Given the description of an element on the screen output the (x, y) to click on. 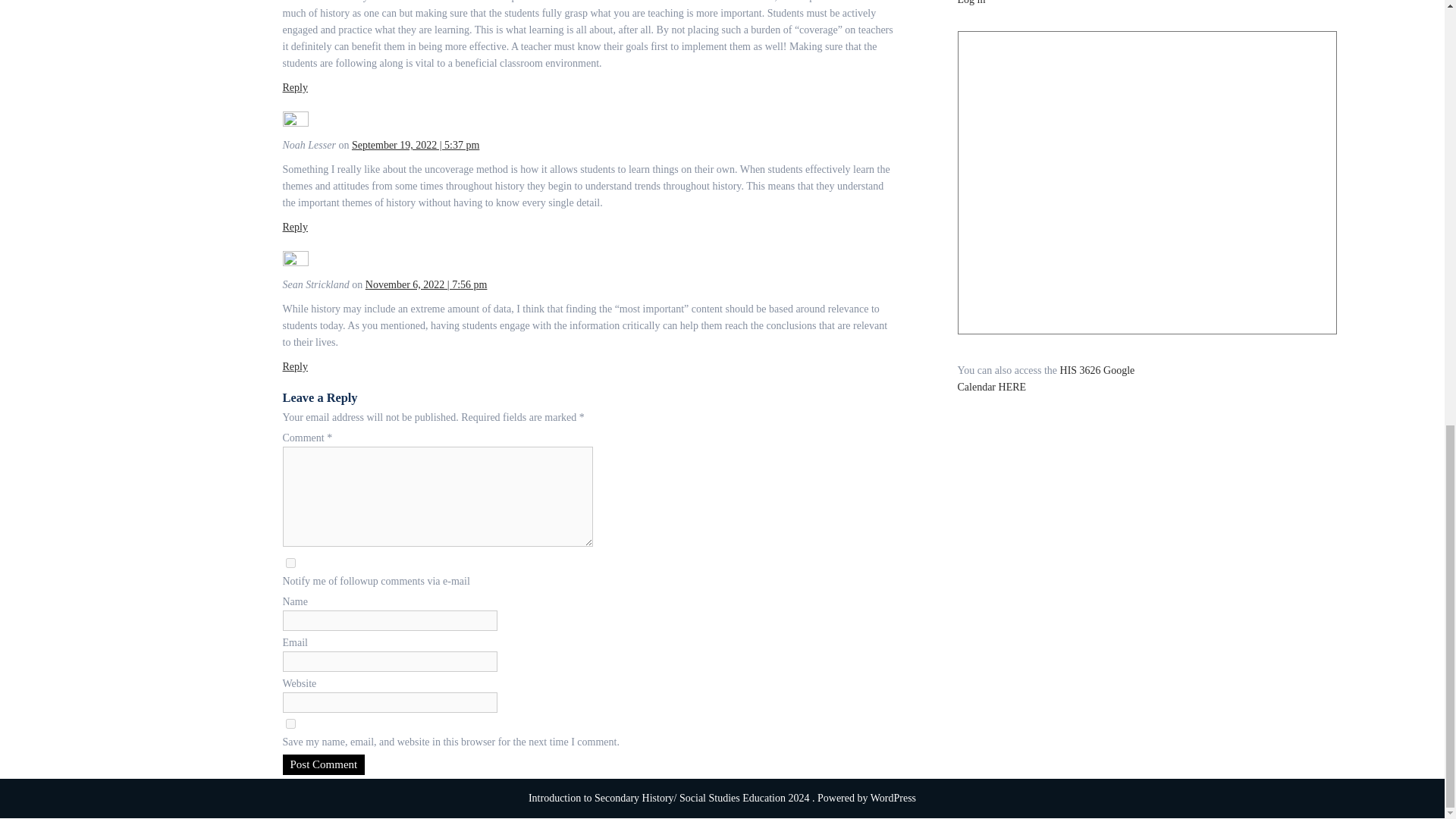
Post Comment (323, 764)
Reply (294, 366)
Reply (294, 87)
Reply (294, 226)
Post Comment (323, 764)
subscribe (290, 562)
yes (290, 723)
